Given the description of an element on the screen output the (x, y) to click on. 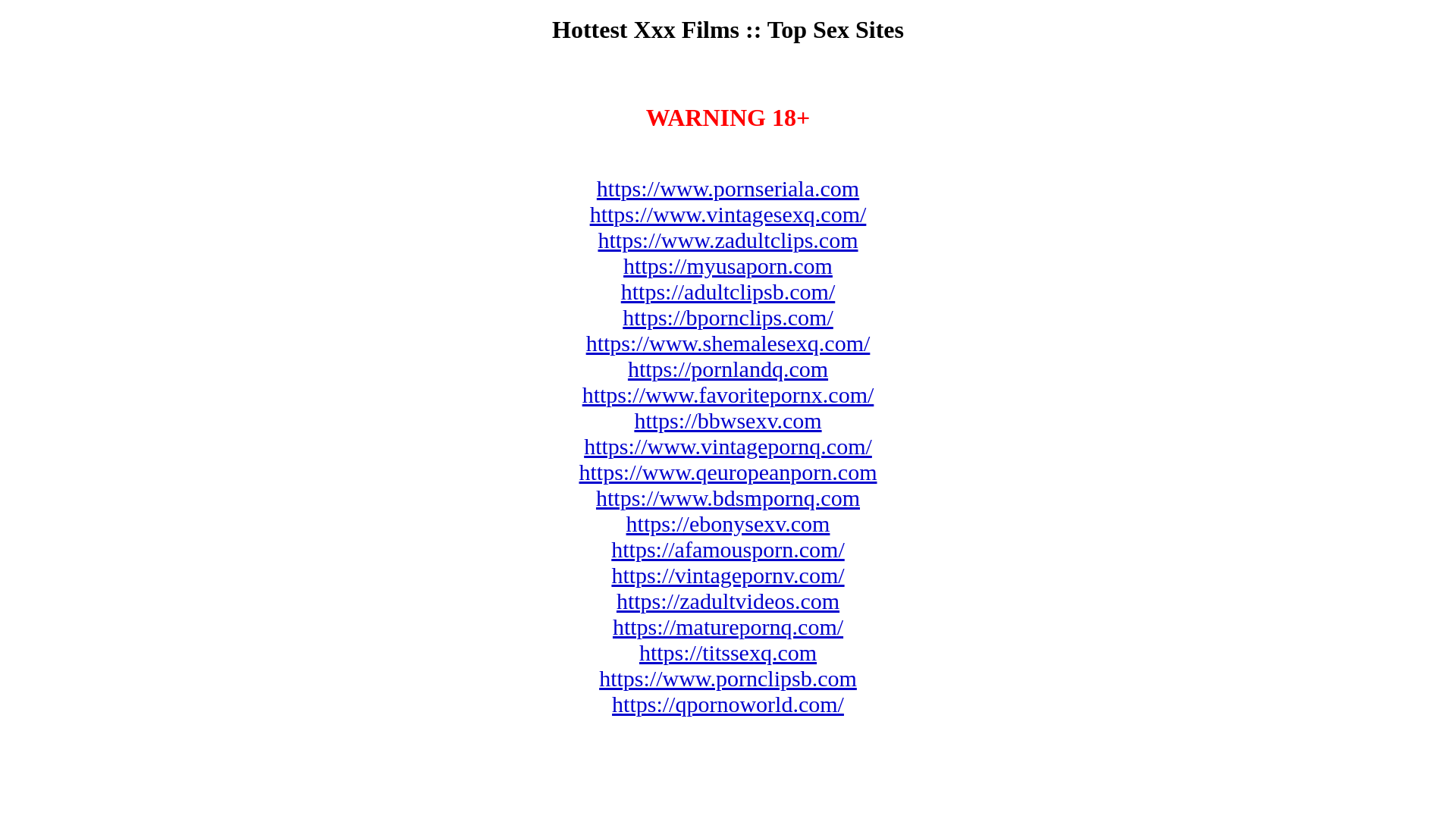
https://www.qeuropeanporn.com Element type: text (728, 471)
https://www.zadultclips.com Element type: text (727, 239)
https://www.bdsmpornq.com Element type: text (727, 497)
https://pornlandq.com Element type: text (727, 368)
https://titssexq.com Element type: text (727, 652)
https://www.favoritepornx.com/ Element type: text (728, 394)
https://zadultvideos.com Element type: text (727, 600)
https://www.vintagepornq.com/ Element type: text (727, 445)
https://myusaporn.com Element type: text (727, 265)
https://bbwsexv.com Element type: text (727, 420)
https://www.vintagesexq.com/ Element type: text (727, 213)
https://maturepornq.com/ Element type: text (727, 626)
https://adultclipsb.com/ Element type: text (727, 291)
https://vintagepornv.com/ Element type: text (727, 574)
https://www.pornseriala.com Element type: text (727, 187)
https://afamousporn.com/ Element type: text (727, 548)
https://ebonysexv.com Element type: text (728, 523)
https://qpornoworld.com/ Element type: text (727, 703)
https://www.pornclipsb.com Element type: text (727, 677)
https://www.shemalesexq.com/ Element type: text (728, 342)
https://bpornclips.com/ Element type: text (727, 316)
